Given the description of an element on the screen output the (x, y) to click on. 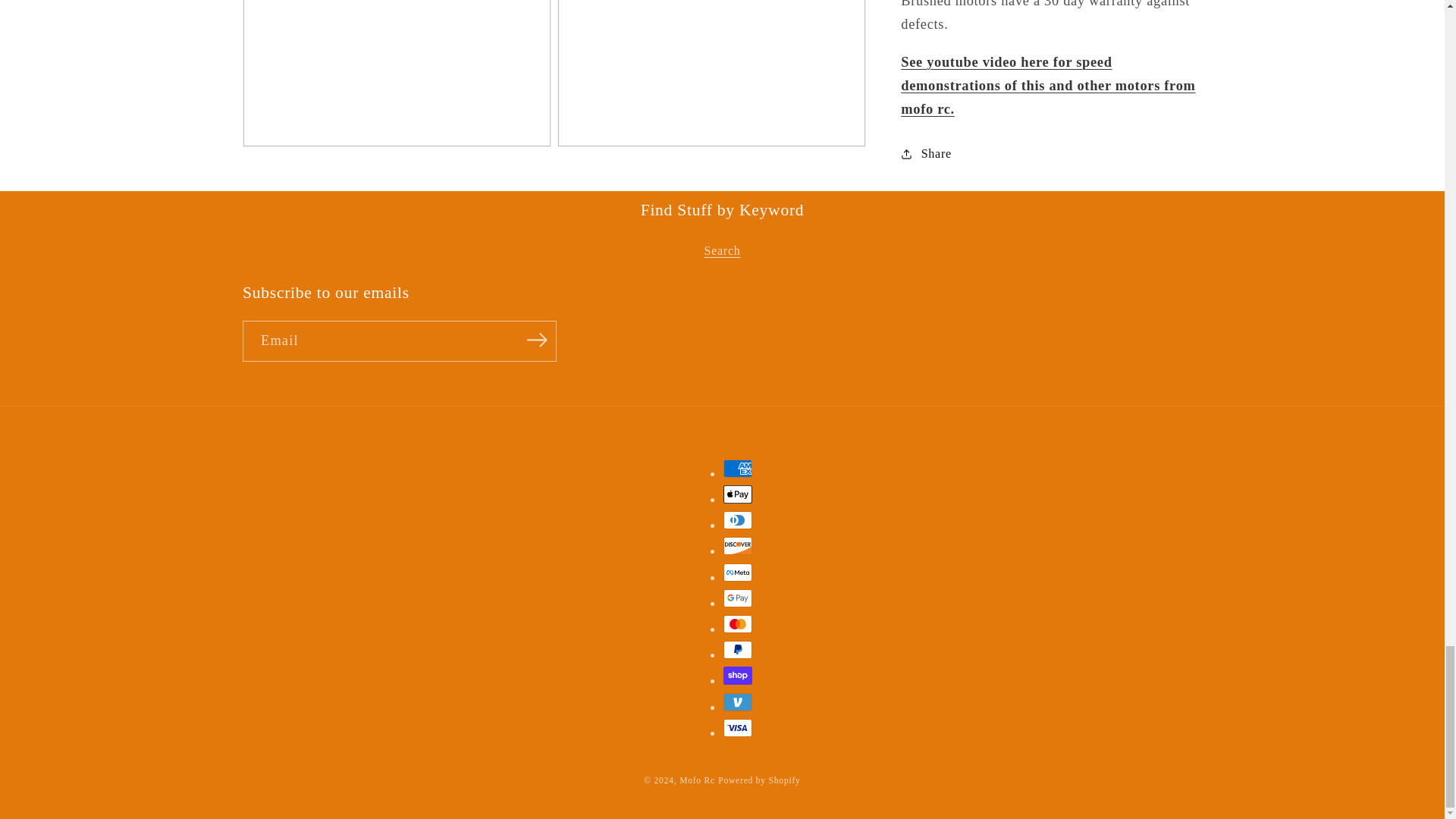
Apple Pay (737, 494)
Venmo (737, 701)
Google Pay (737, 597)
Diners Club (737, 520)
PayPal (737, 649)
Discover (737, 546)
American Express (737, 468)
Mastercard (737, 624)
Shop Pay (737, 675)
Visa (737, 728)
Meta Pay (737, 572)
